Given the description of an element on the screen output the (x, y) to click on. 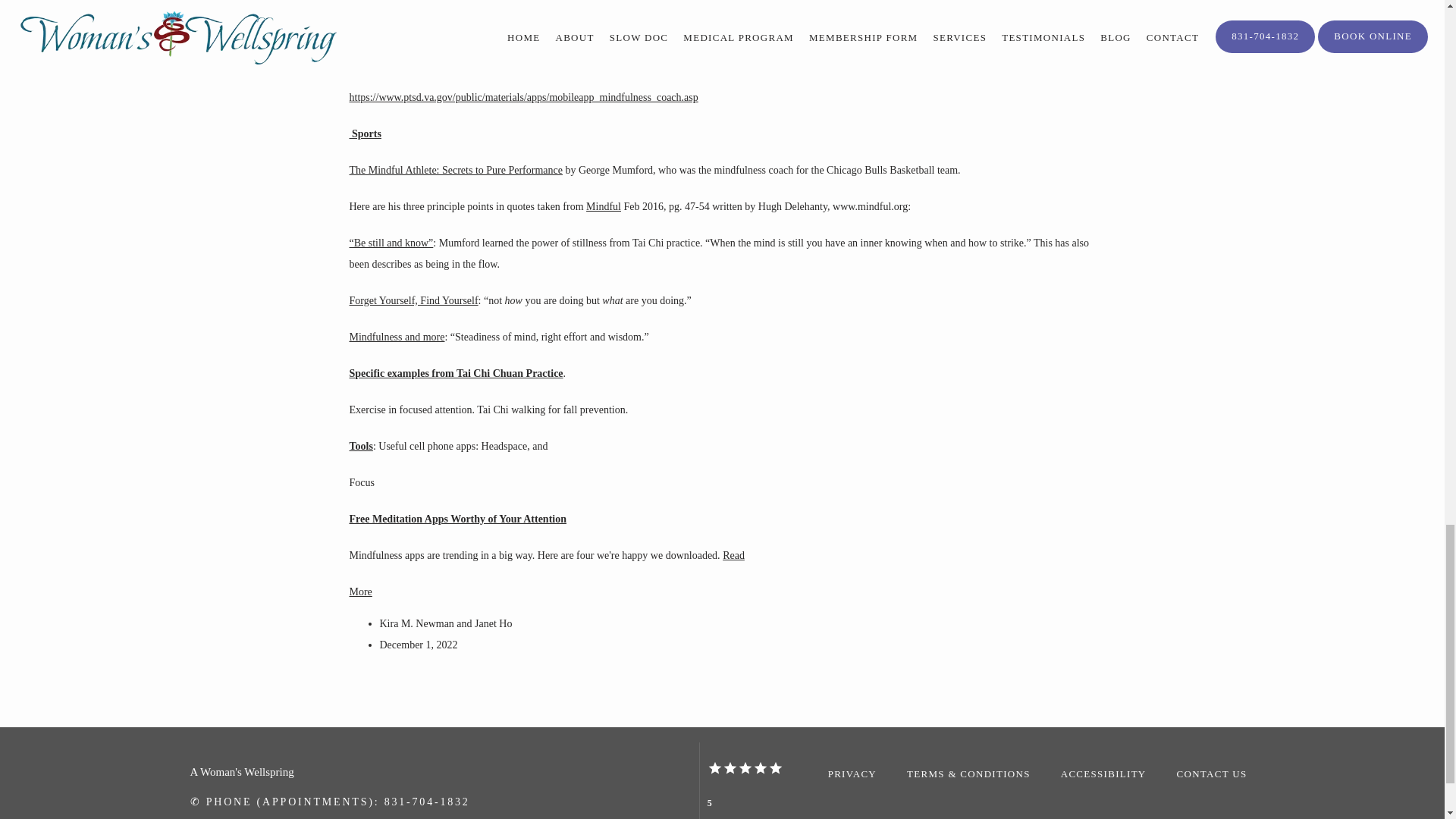
ACCESSIBILITY (1104, 773)
Free Meditation Apps Worthy of Your Attention (457, 518)
More (360, 591)
PRIVACY (852, 773)
CONTACT US (1211, 773)
Read (733, 555)
